Given the description of an element on the screen output the (x, y) to click on. 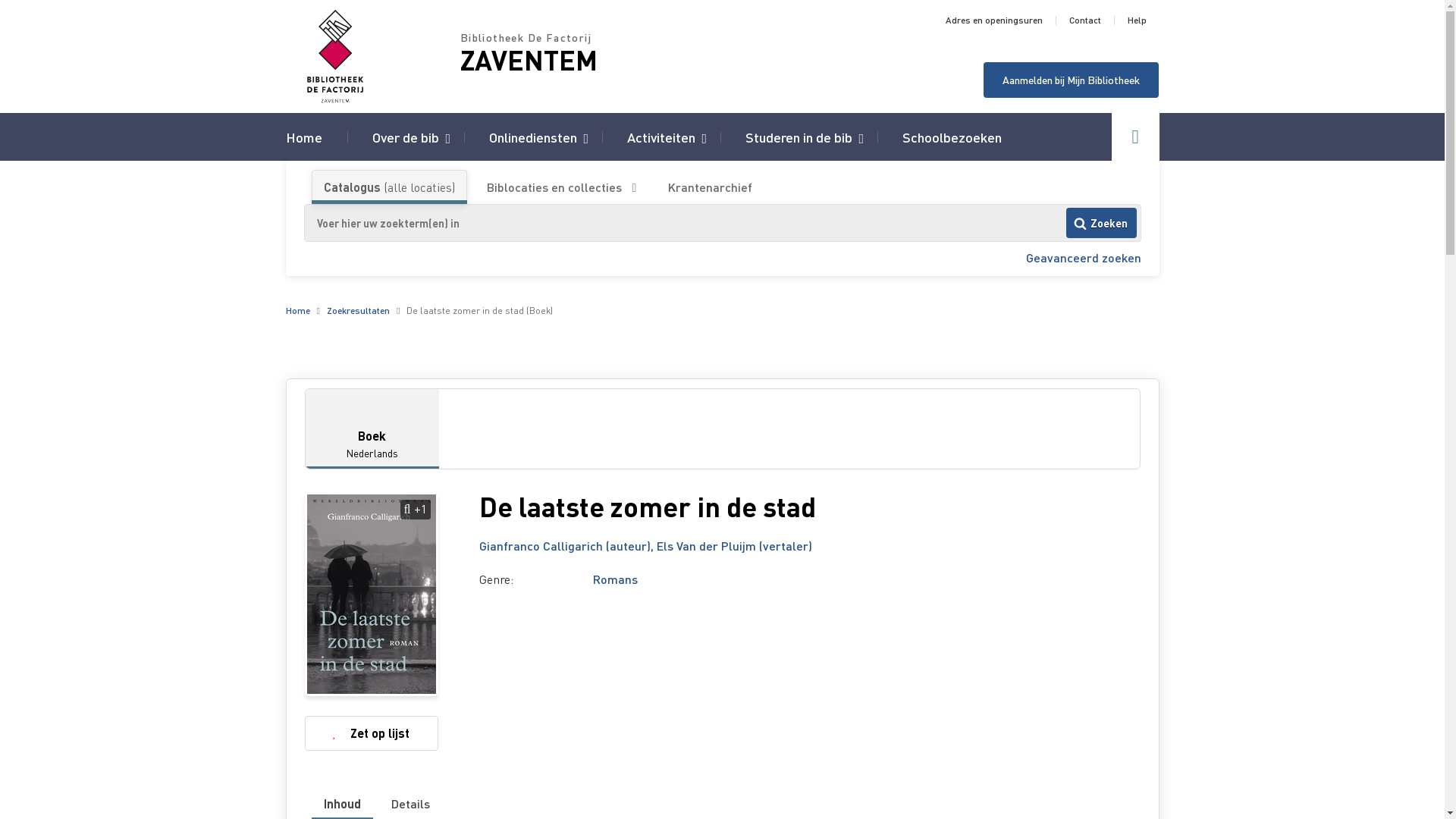
Zoekresultaten Element type: text (357, 310)
Home Element type: text (303, 136)
Contact Element type: text (1085, 20)
Biblocaties en collecties Element type: text (560, 186)
Home Element type: hover (372, 55)
Catalogus (alle locaties) Element type: text (389, 186)
Overslaan en naar zoeken gaan Element type: text (0, 0)
Krantenarchief Element type: text (709, 186)
Help Element type: text (1135, 20)
Zoeken Element type: text (1101, 222)
Gianfranco Calligarich (auteur), Element type: text (567, 545)
Zet op lijst Element type: text (371, 732)
Romans Element type: text (615, 578)
Home Element type: text (297, 310)
Adres en openingsuren Element type: text (992, 20)
Schoolbezoeken Element type: text (951, 136)
Els Van der Pluijm (vertaler) Element type: text (734, 545)
Geavanceerd zoeken Element type: text (1082, 257)
Toggle search Element type: hover (1135, 136)
Aanmelden bij Mijn Bibliotheek Element type: text (1070, 79)
